Given the description of an element on the screen output the (x, y) to click on. 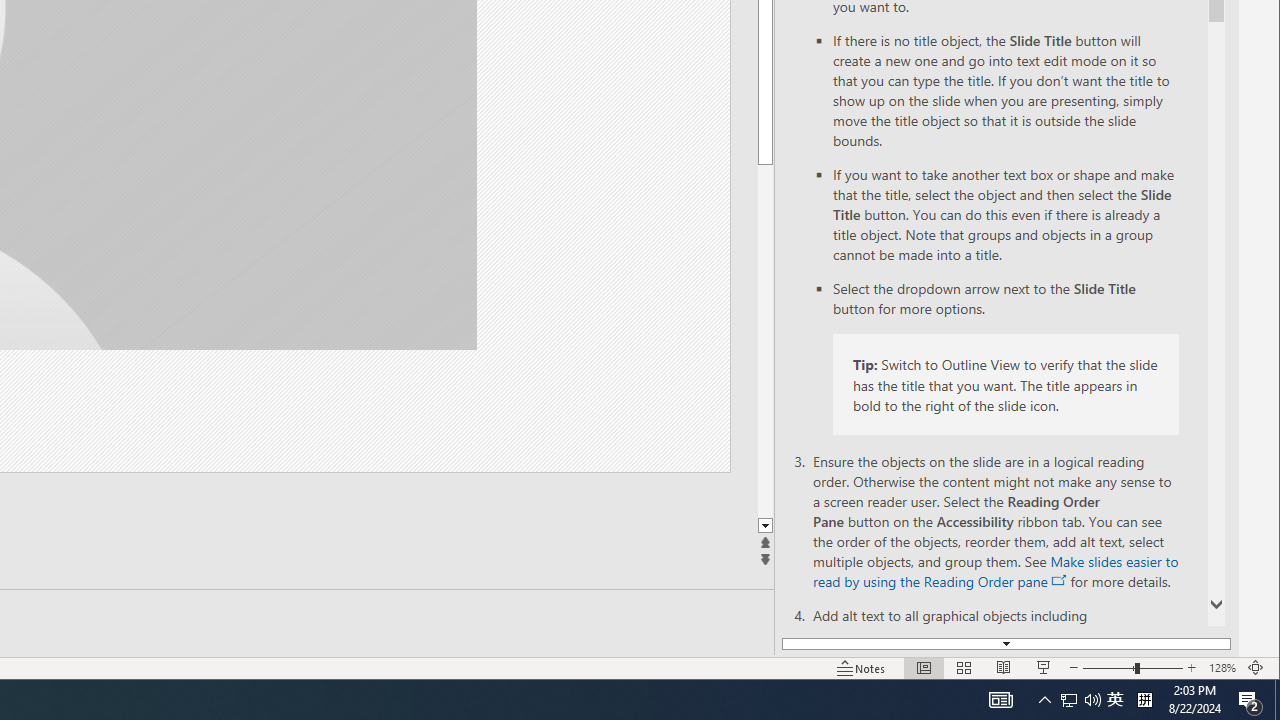
Action Center, 2 new notifications (1250, 699)
Zoom 128% (1222, 668)
